Given the description of an element on the screen output the (x, y) to click on. 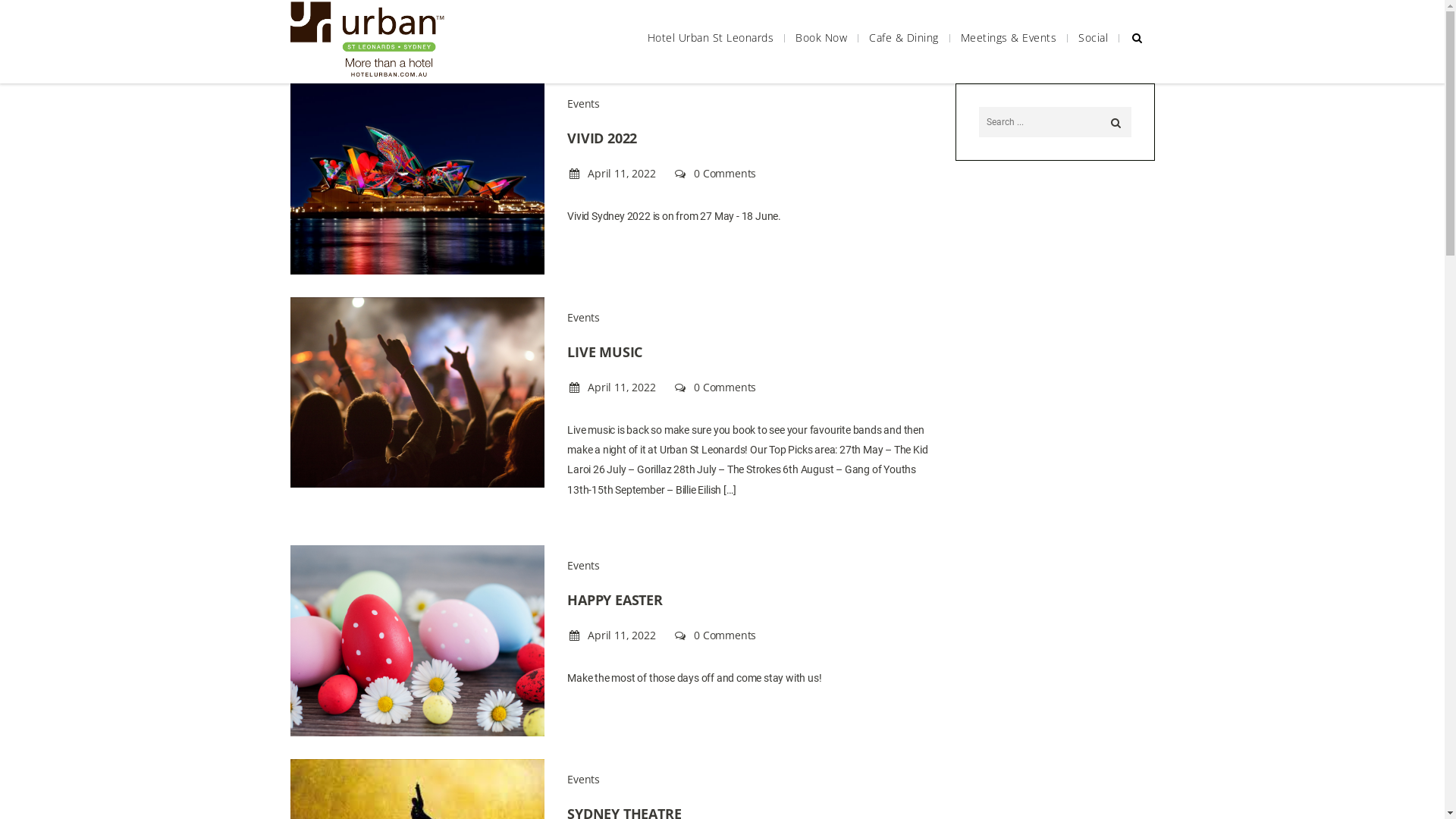
Meetings & Events Element type: text (1008, 37)
HAPPY EASTER Element type: text (614, 599)
Cafe & Dining Element type: text (903, 37)
Events Element type: text (583, 103)
Social Element type: text (1092, 37)
VIVID 2022 Element type: text (602, 137)
April 11, 2022 Element type: text (612, 173)
Events Element type: text (583, 778)
LIVE MUSIC Element type: text (604, 351)
Hotel Urban St Leonards Element type: text (710, 37)
Search for: Element type: hover (1055, 121)
Events Element type: text (583, 565)
April 11, 2022 Element type: text (612, 634)
Events Element type: text (583, 317)
April 11, 2022 Element type: text (612, 386)
Book Now Element type: text (820, 37)
